Given the description of an element on the screen output the (x, y) to click on. 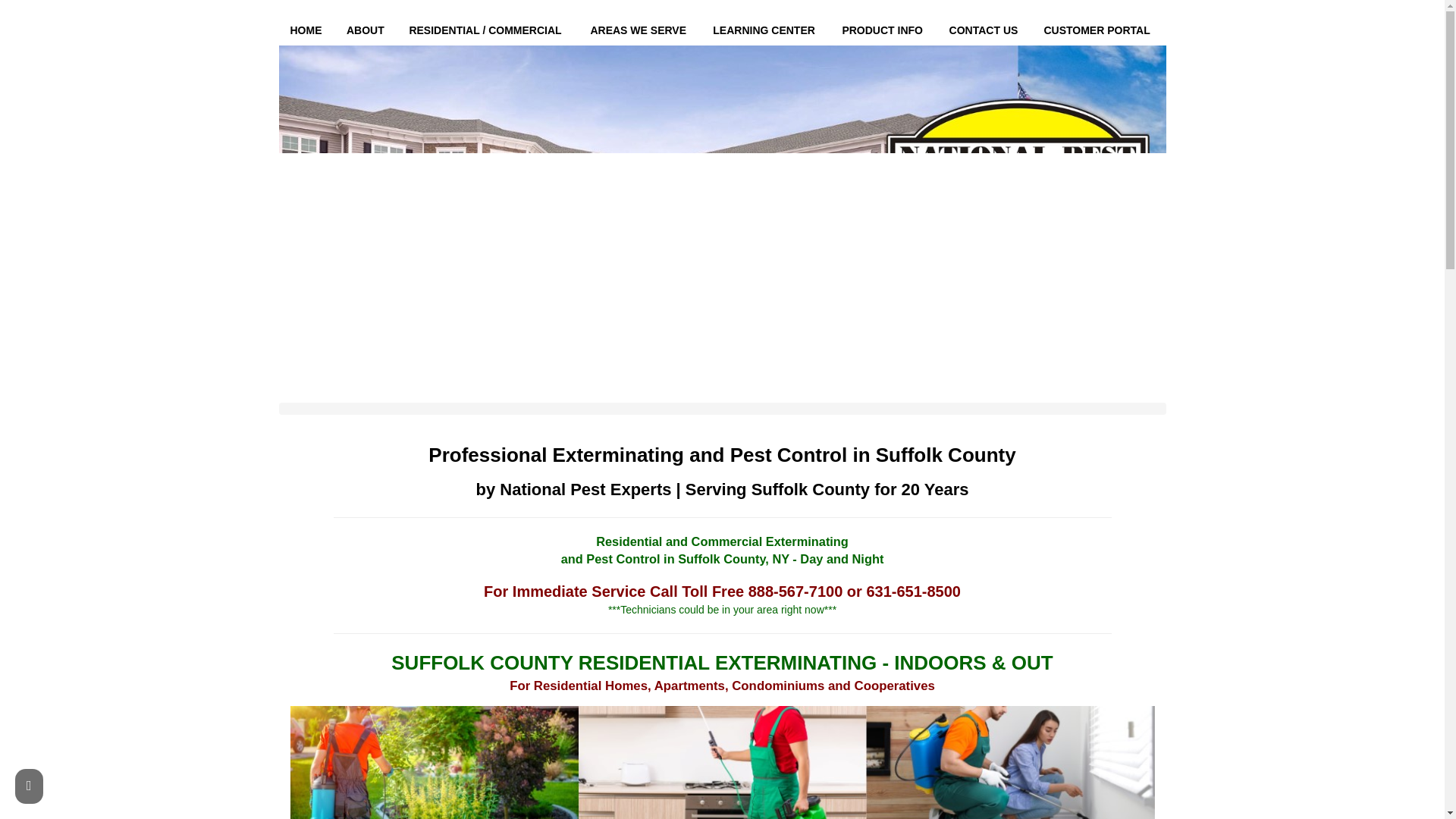
LEARNING CENTER (765, 30)
ABOUT (365, 30)
CONTACT US (984, 30)
CUSTOMER PORTAL (1099, 30)
PRODUCT INFO (883, 30)
AREAS WE SERVE (639, 30)
HOME (306, 30)
